Given the description of an element on the screen output the (x, y) to click on. 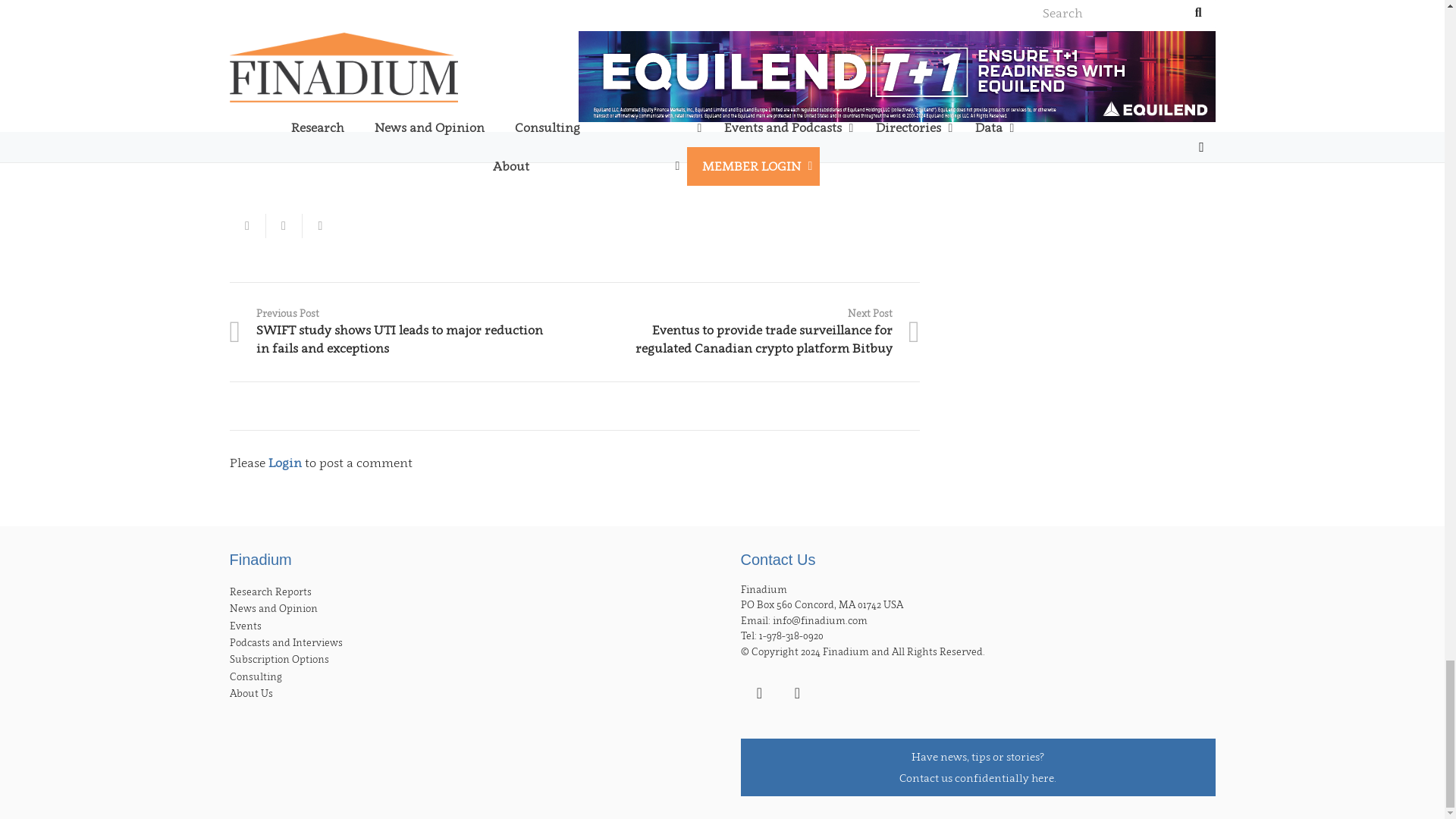
Share this (282, 225)
Email this (246, 225)
Share this (319, 225)
LinkedIn (758, 692)
RSS (796, 692)
